Given the description of an element on the screen output the (x, y) to click on. 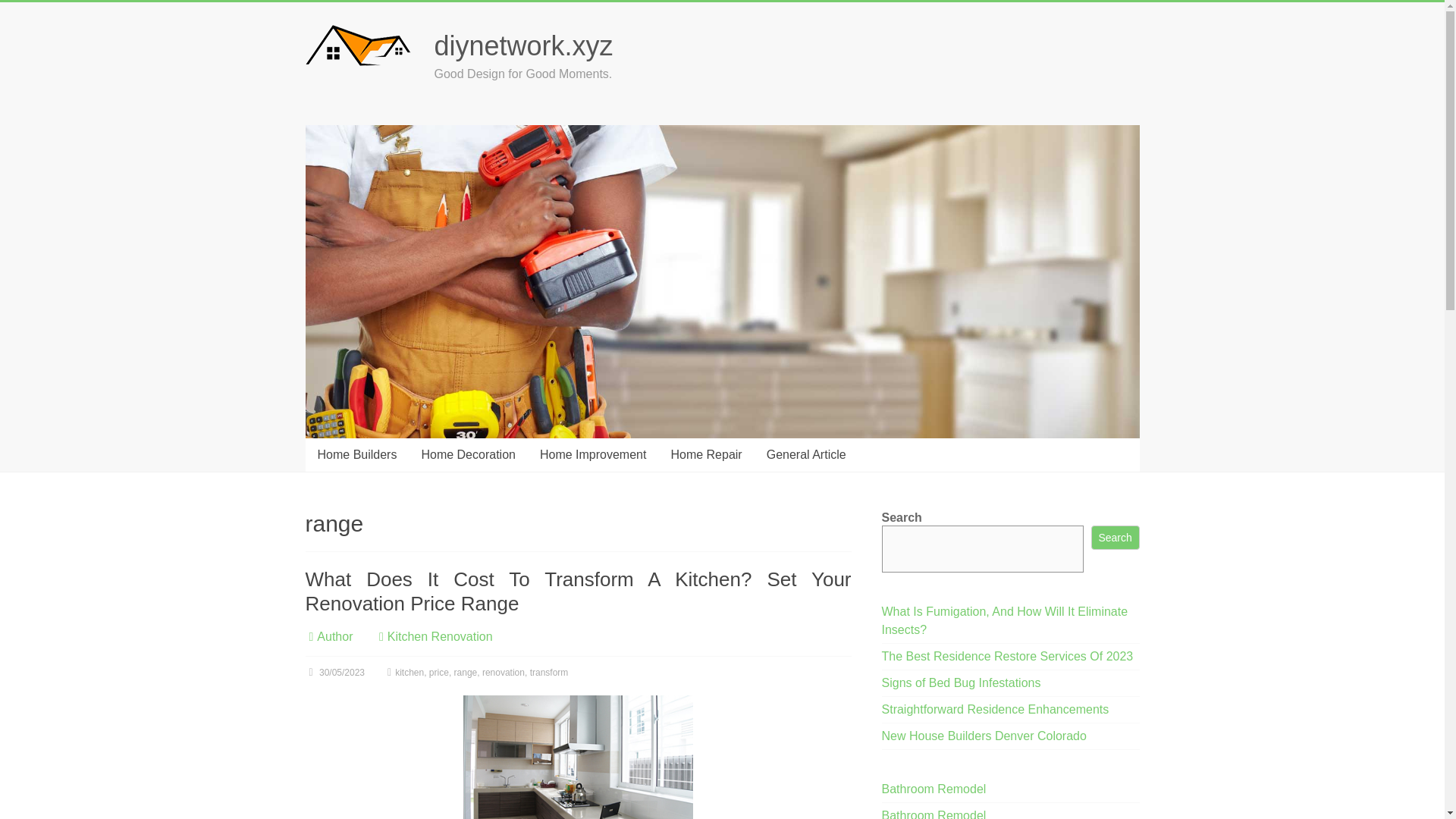
transform (549, 672)
renovation (502, 672)
Home Decoration (468, 454)
Home Builders (356, 454)
Kitchen Renovation (440, 635)
Home Improvement (593, 454)
kitchen (408, 672)
Author (334, 635)
General Article (806, 454)
Home Repair (706, 454)
diynetwork.xyz (522, 45)
range (465, 672)
diynetwork.xyz (522, 45)
price (438, 672)
